Given the description of an element on the screen output the (x, y) to click on. 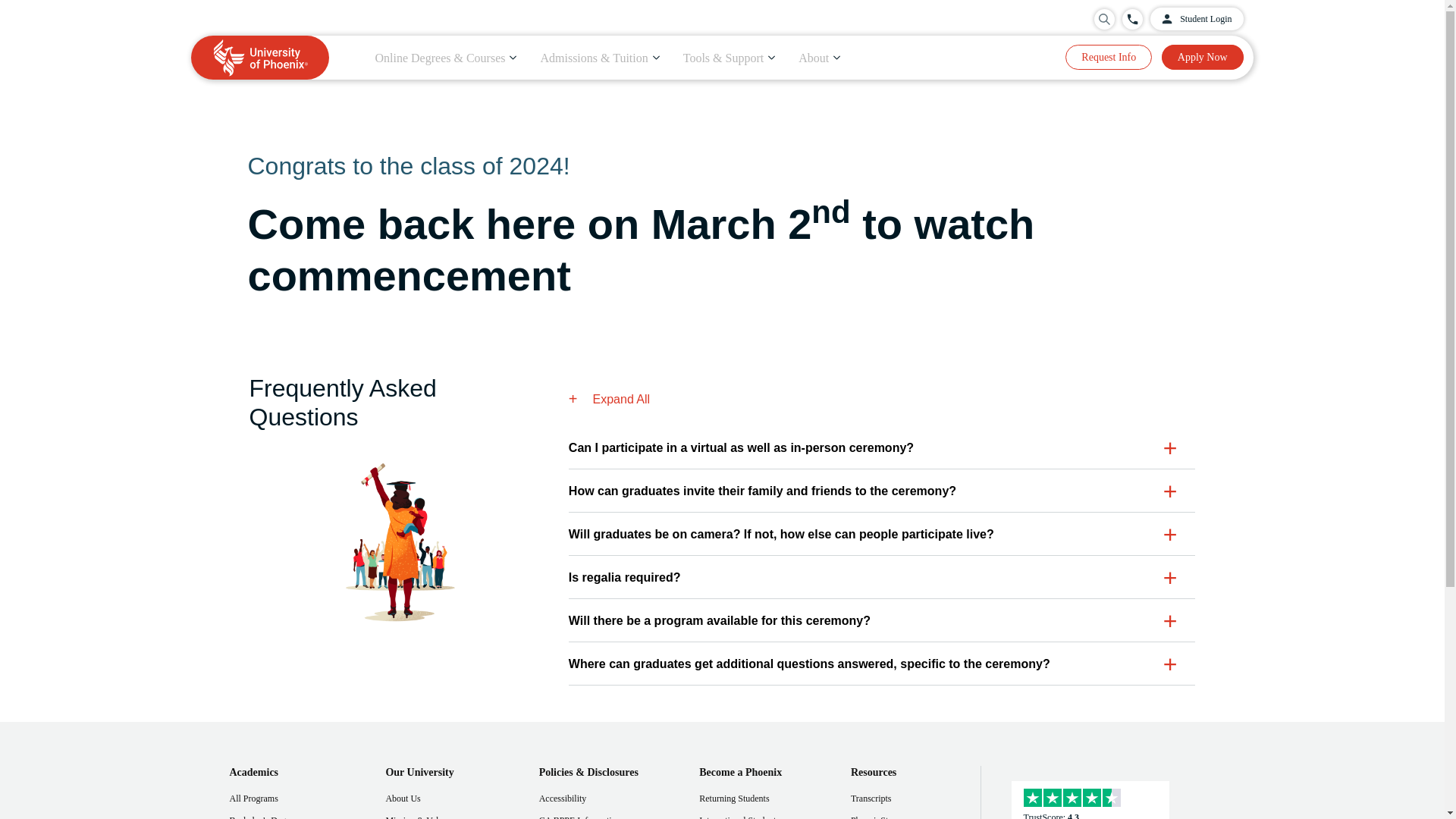
Apply Now (1202, 57)
Student Login (1196, 18)
Request Info (1108, 57)
About (819, 57)
